Given the description of an element on the screen output the (x, y) to click on. 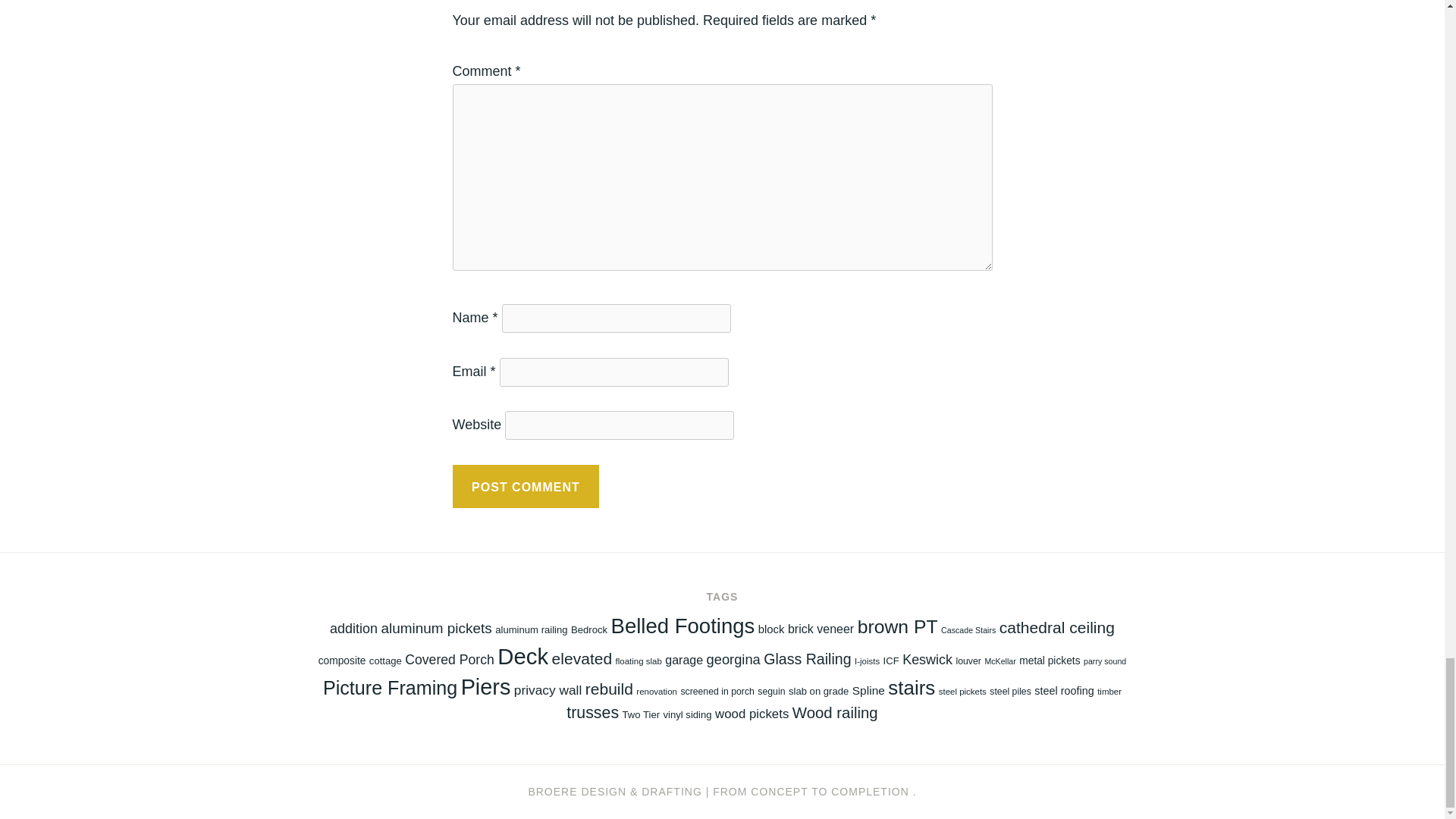
Post Comment (524, 486)
